Given the description of an element on the screen output the (x, y) to click on. 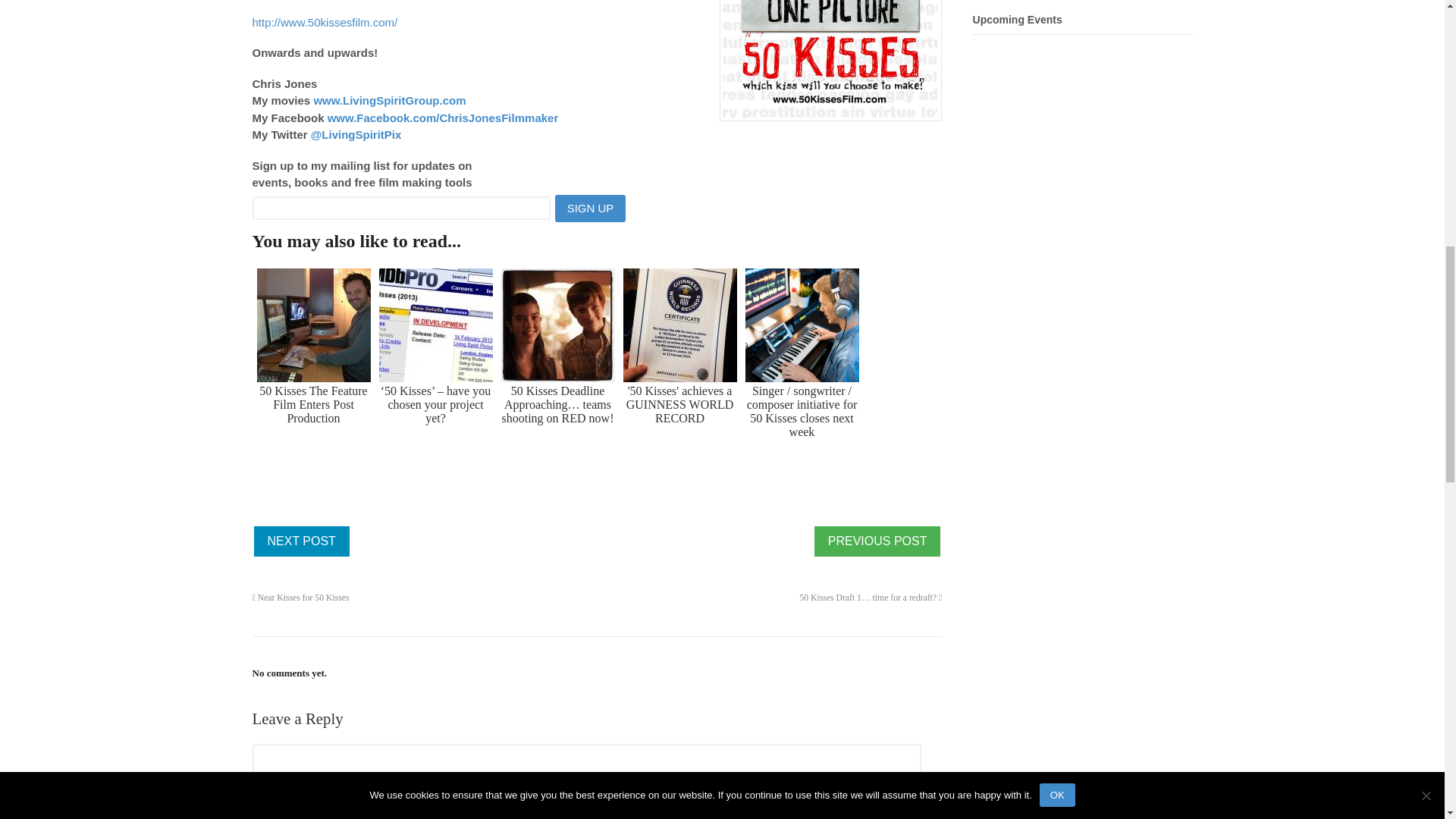
50 Kisses Draft 1... time for a redraft? (300, 540)
50 kisses (830, 60)
www.LivingSpiritGroup.com (389, 100)
PREVIOUS POST (876, 541)
Sign Up (590, 207)
NEXT POST (301, 541)
PREVIOUS POST (877, 540)
Near Kisses for 50 Kisses (300, 597)
NEXT POST (300, 540)
Near Kisses for 50 Kisses (877, 540)
Sign Up (590, 207)
